Given the description of an element on the screen output the (x, y) to click on. 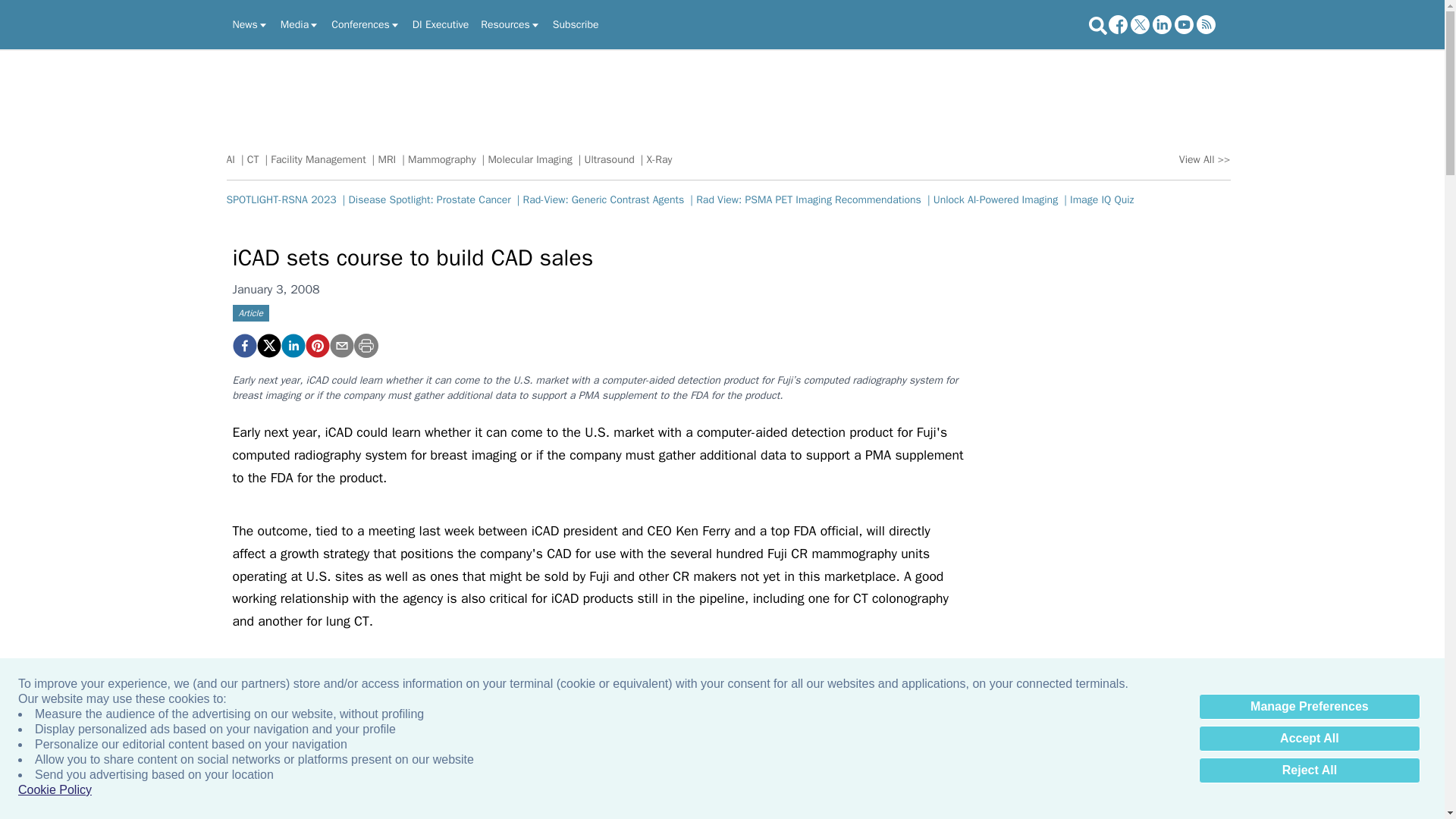
Manage Preferences (1309, 706)
Reject All (1309, 769)
Cookie Policy (54, 789)
Subscribe (575, 23)
iCAD sets course to build CAD sales (316, 345)
iCAD sets course to build CAD sales (243, 345)
Accept All (1309, 738)
DI Executive (440, 23)
